Given the description of an element on the screen output the (x, y) to click on. 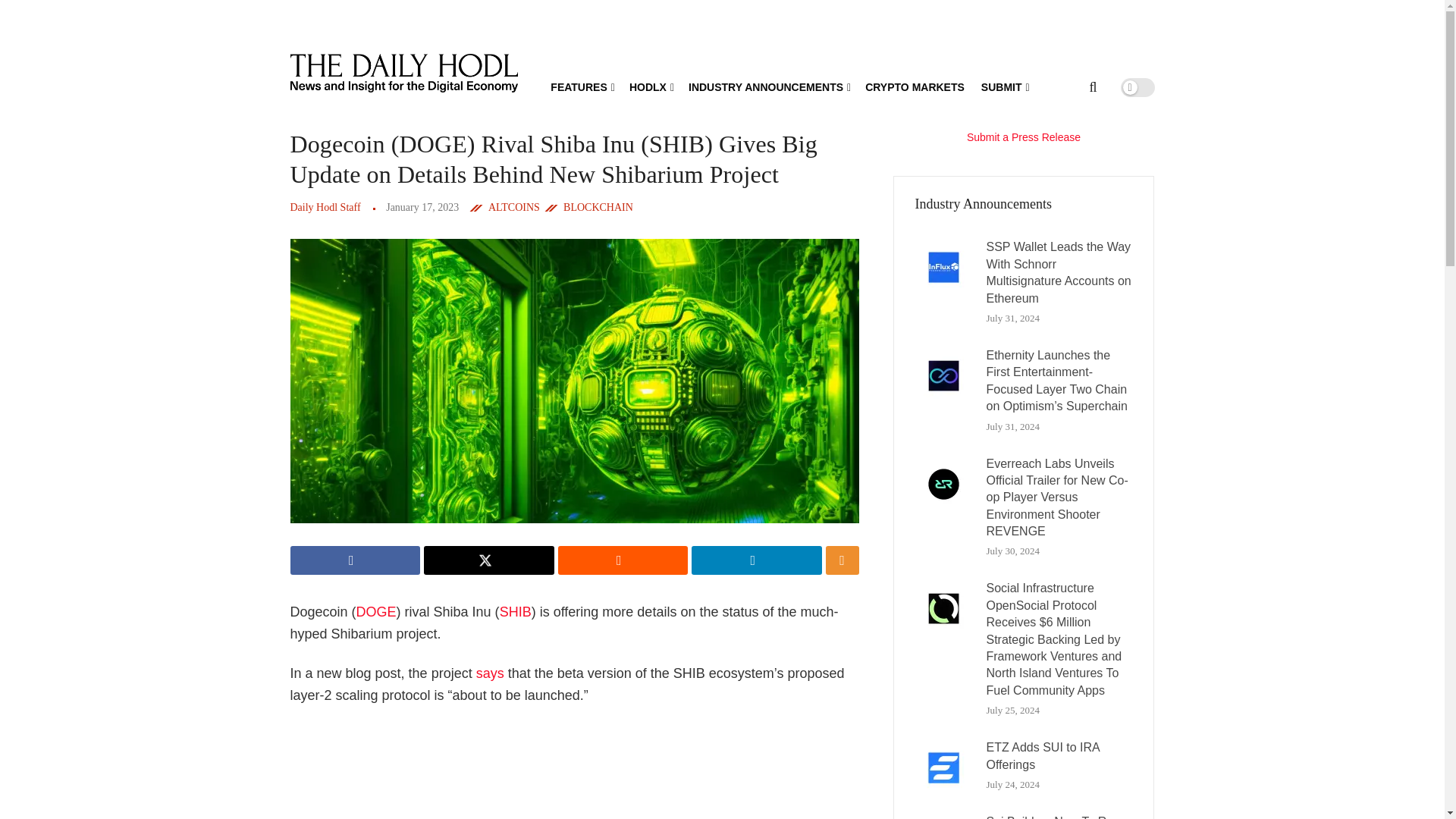
Advertisement (581, 771)
HODLX (649, 86)
FEATURES (581, 86)
CRYPTO MARKETS (913, 86)
SUBMIT (1004, 86)
INDUSTRY ANNOUNCEMENTS (768, 86)
